Given the description of an element on the screen output the (x, y) to click on. 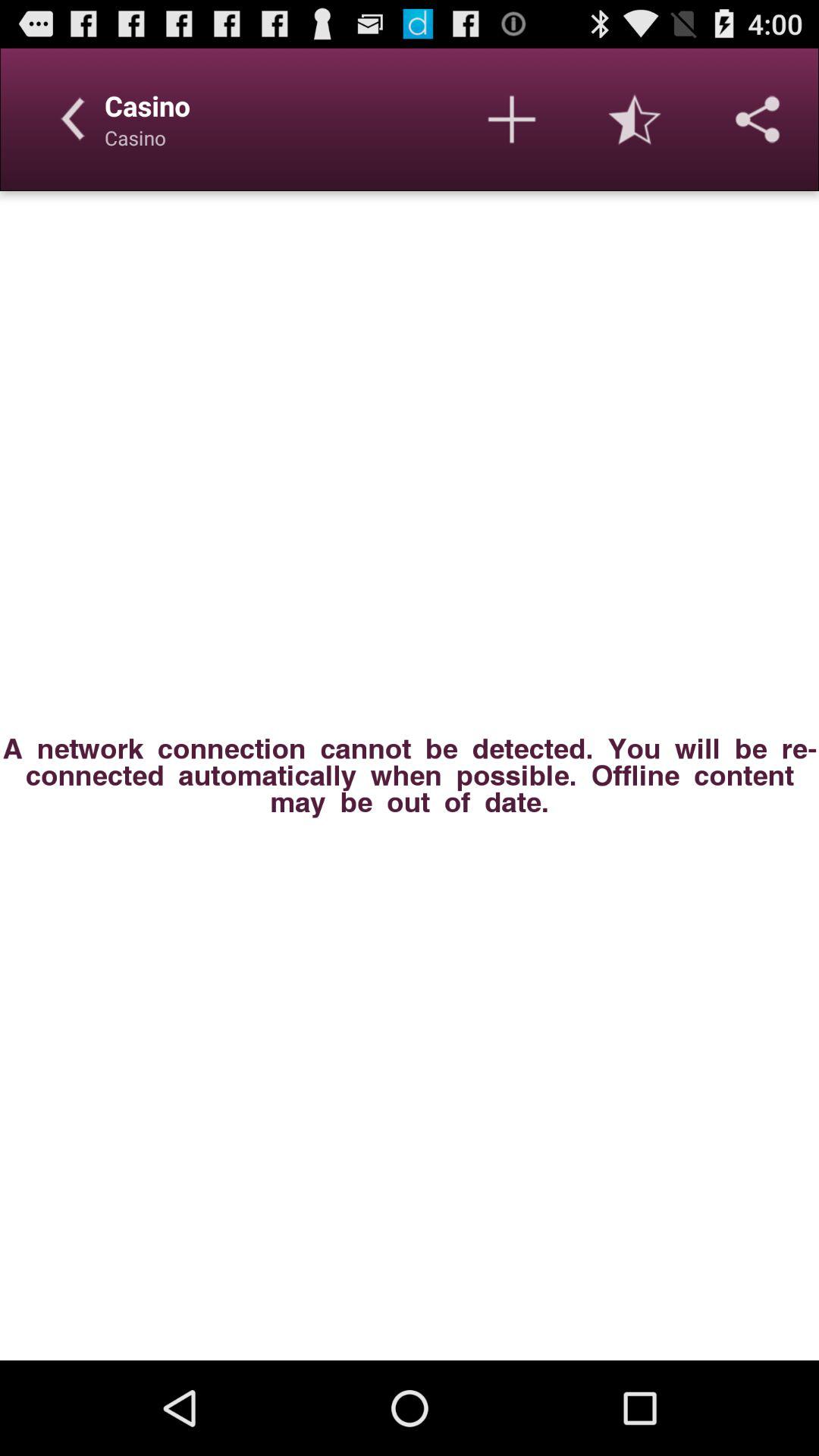
share options (757, 119)
